Given the description of an element on the screen output the (x, y) to click on. 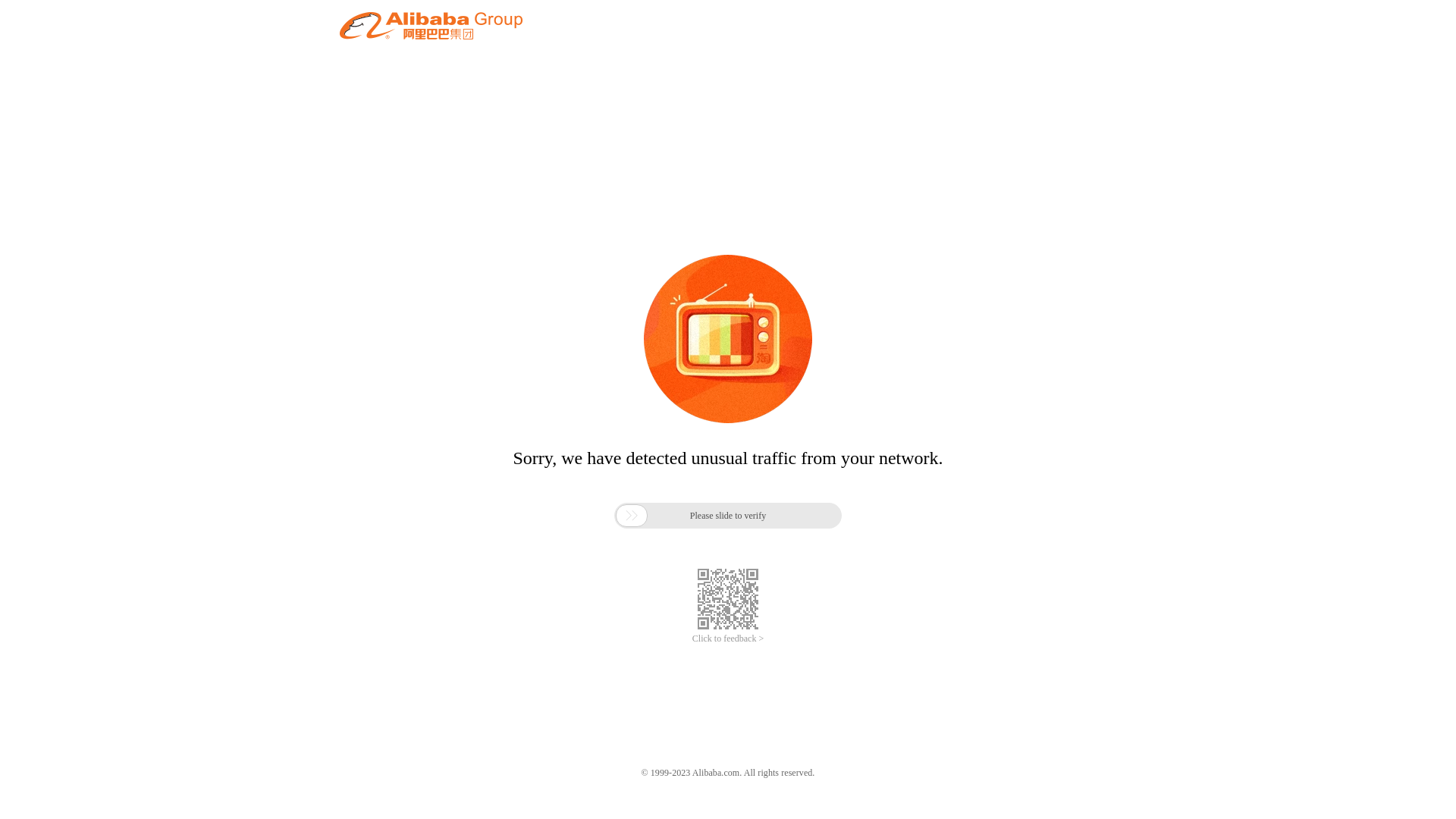
Click to feedback > Element type: text (727, 638)
